Given the description of an element on the screen output the (x, y) to click on. 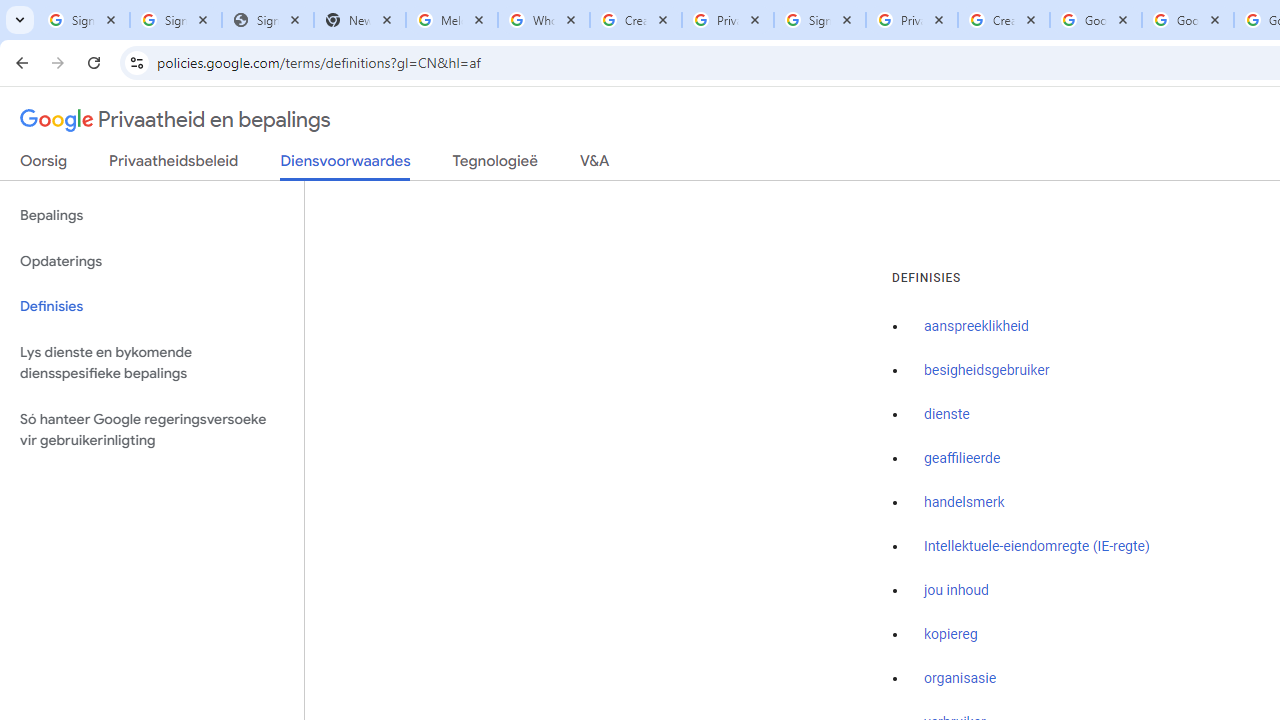
Sign in - Google Accounts (83, 20)
V&A (594, 165)
geaffilieerde (962, 459)
besigheidsgebruiker (986, 371)
jou inhoud (956, 590)
Sign in - Google Accounts (175, 20)
